Given the description of an element on the screen output the (x, y) to click on. 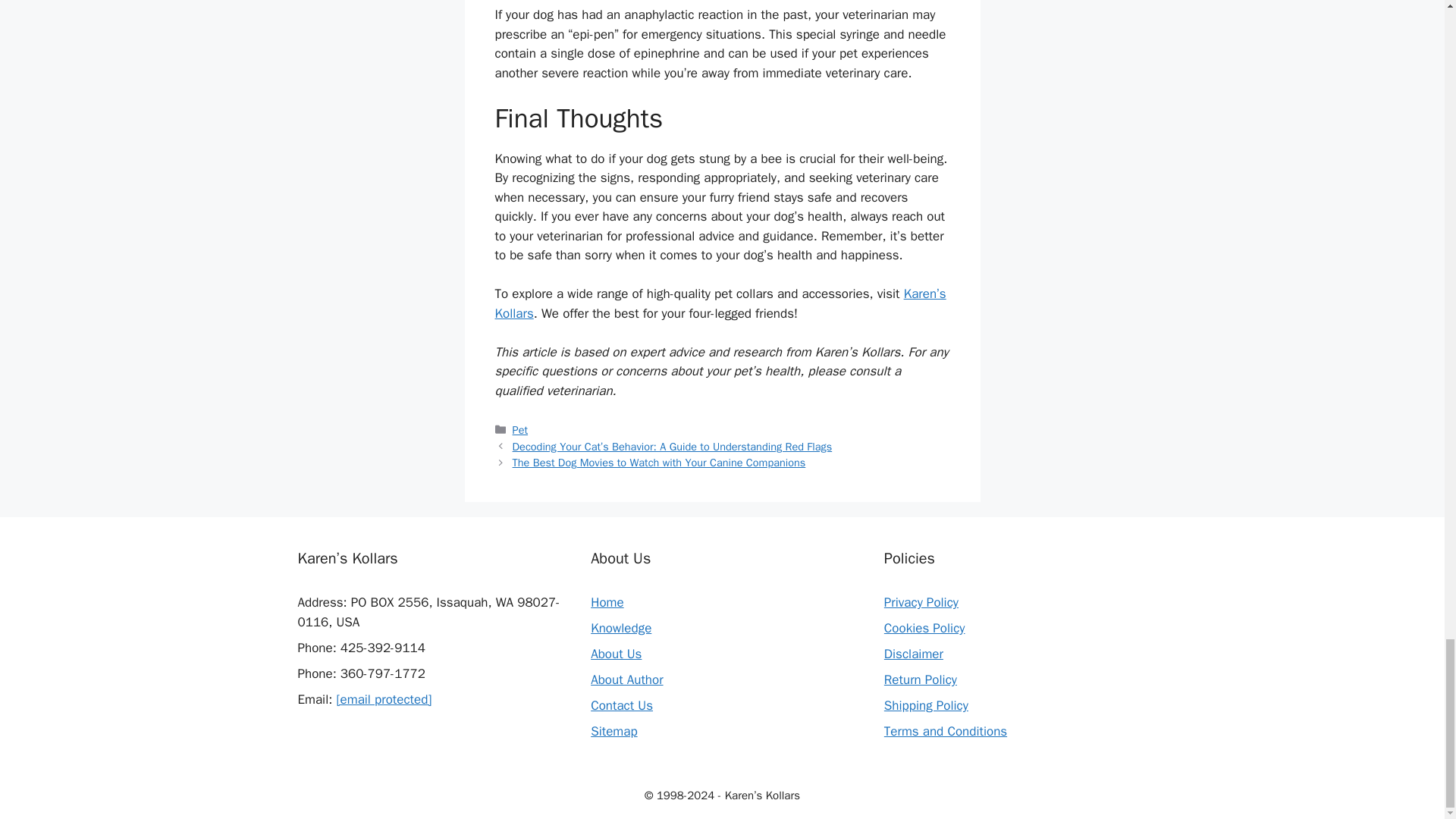
Cookies Policy (924, 627)
Disclaimer (913, 653)
Home (607, 602)
Sitemap (614, 731)
Shipping Policy (925, 705)
Knowledge (620, 627)
Return Policy (919, 679)
About Author (626, 679)
About Us (616, 653)
The Best Dog Movies to Watch with Your Canine Companions (659, 462)
